Given the description of an element on the screen output the (x, y) to click on. 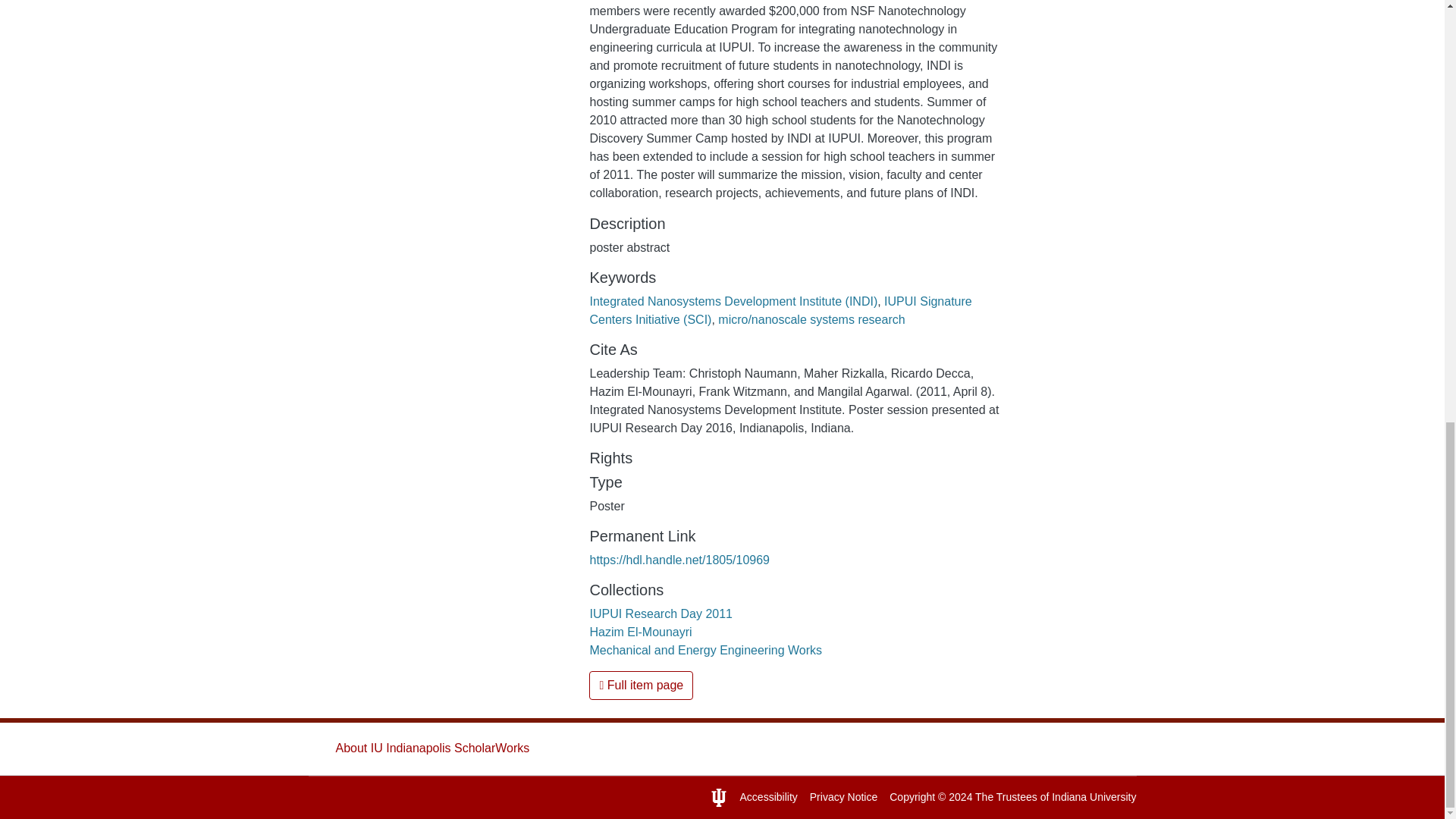
Hazim El-Mounayri (640, 631)
Indiana University (1093, 797)
Mechanical and Energy Engineering Works (705, 649)
About IU Indianapolis ScholarWorks (431, 748)
Privacy Notice (843, 797)
Accessibility (768, 797)
Copyright (911, 797)
Full item page (641, 685)
IUPUI Research Day 2011 (660, 613)
